Given the description of an element on the screen output the (x, y) to click on. 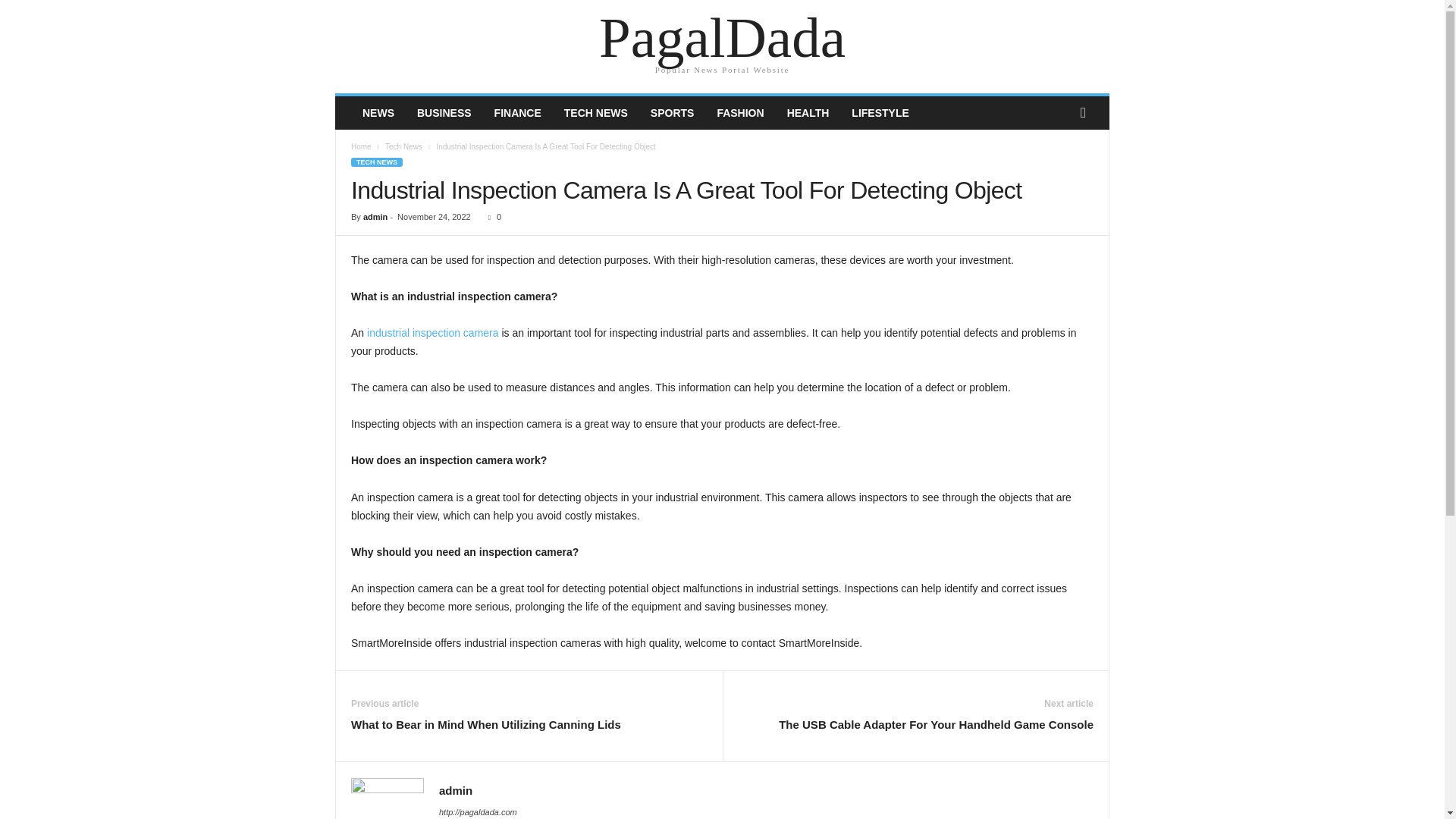
Tech News (403, 146)
BUSINESS (444, 112)
LIFESTYLE (880, 112)
What to Bear in Mind When Utilizing Canning Lids (485, 724)
FINANCE (518, 112)
TECH NEWS (596, 112)
View all posts in Tech News (403, 146)
admin (455, 789)
FASHION (739, 112)
0 (490, 216)
